Given the description of an element on the screen output the (x, y) to click on. 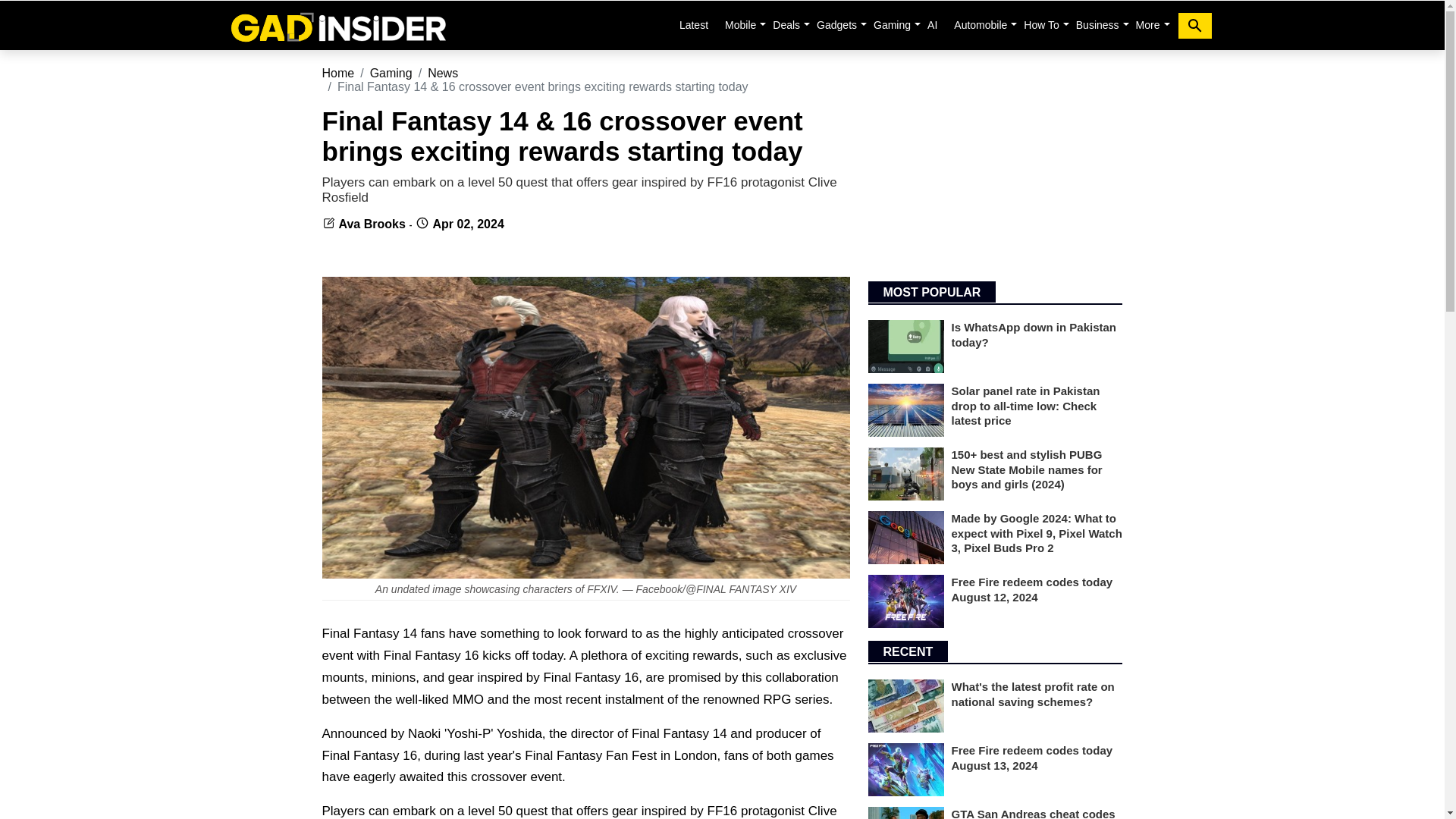
Mobile (740, 24)
Business (1097, 24)
Laptops (786, 24)
How To (1040, 24)
latest (693, 24)
AI (932, 24)
Automobile (980, 24)
Deals (786, 24)
Gaming (892, 24)
Mobile (740, 24)
